Given the description of an element on the screen output the (x, y) to click on. 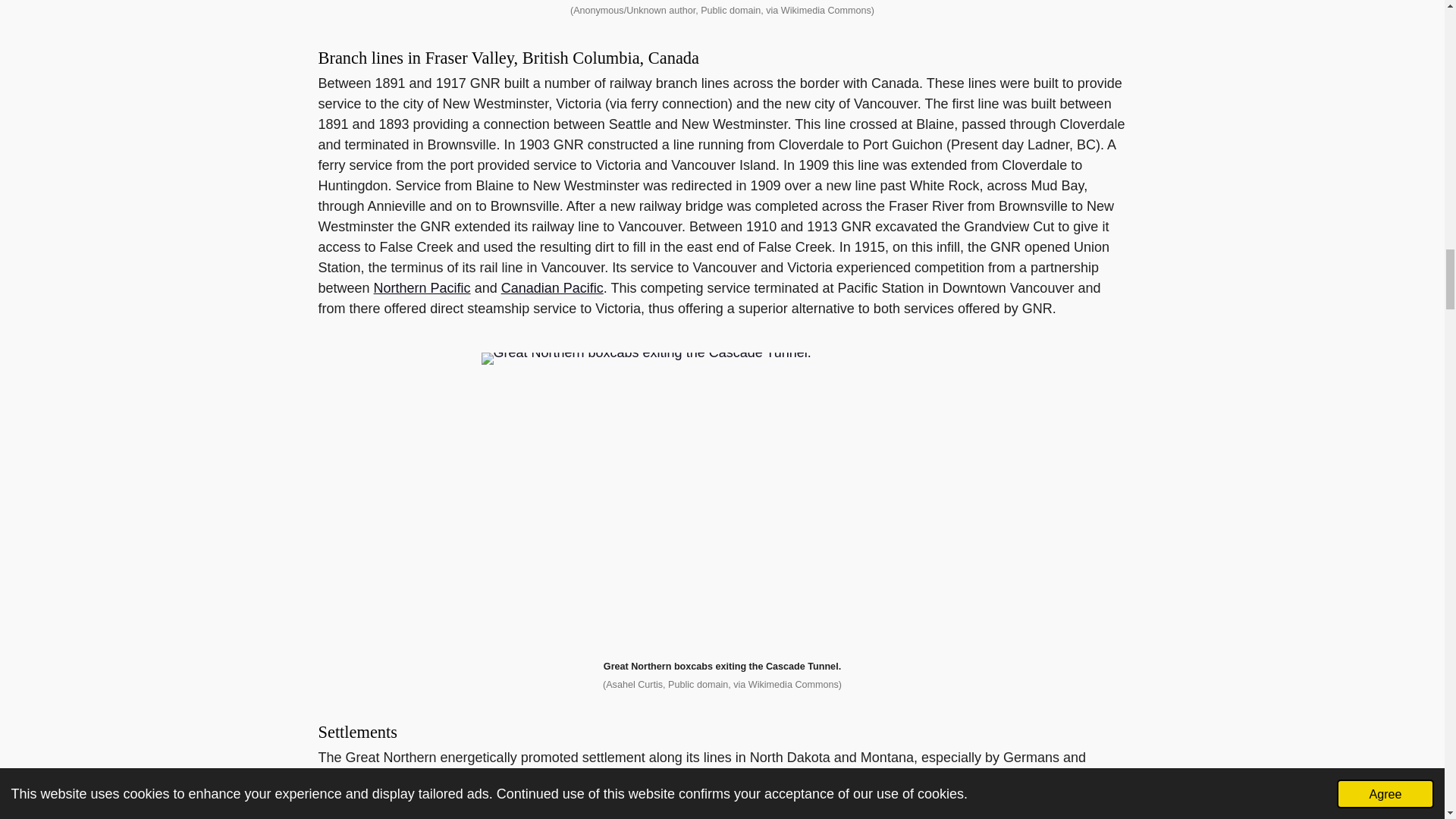
Northern Pacific (422, 287)
Canadian Pacific (552, 287)
